Given the description of an element on the screen output the (x, y) to click on. 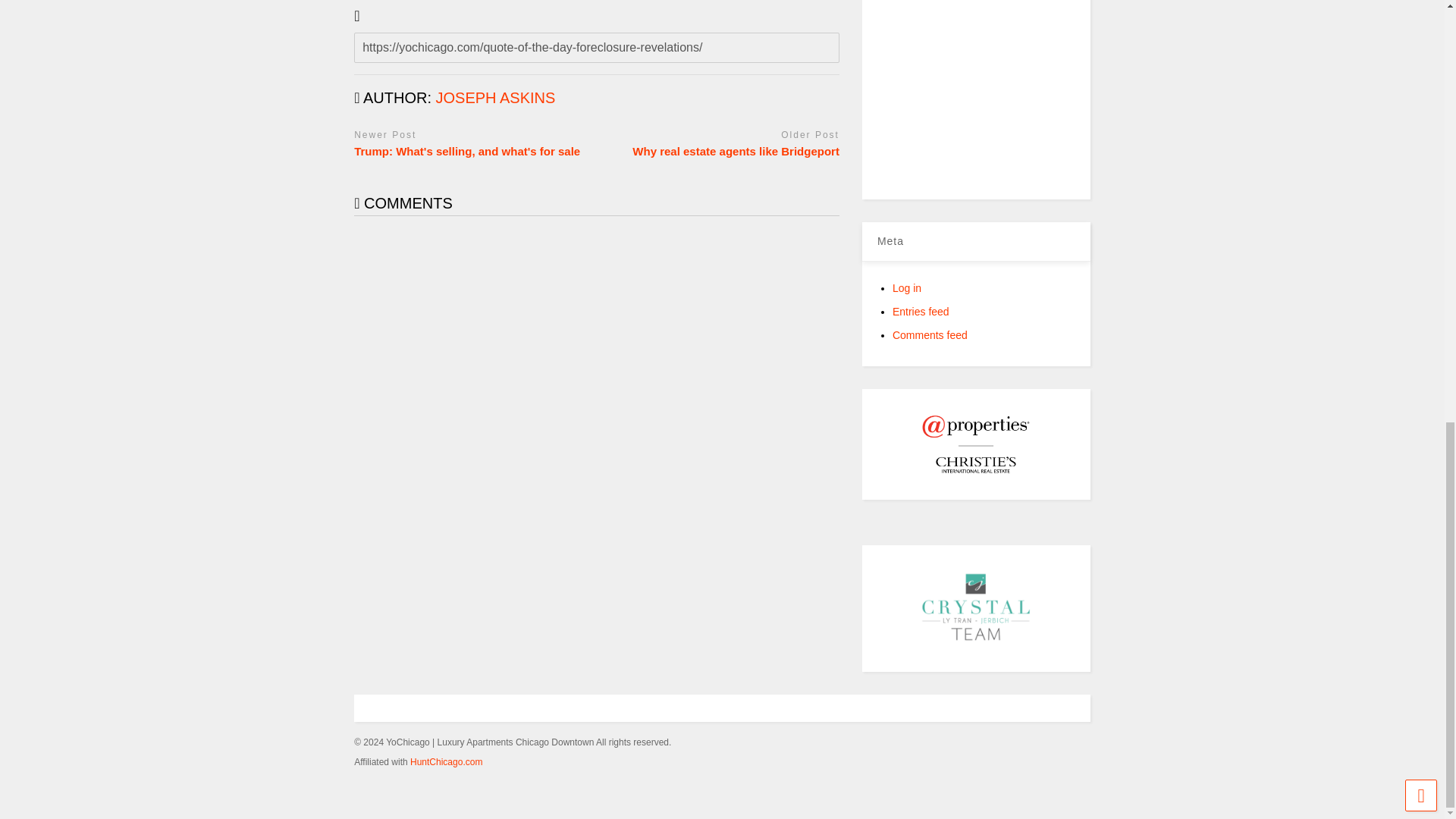
Advertisement (996, 99)
JOSEPH ASKINS (495, 97)
author profile (495, 97)
Trump: What's selling, and what's for sale (471, 151)
